Given the description of an element on the screen output the (x, y) to click on. 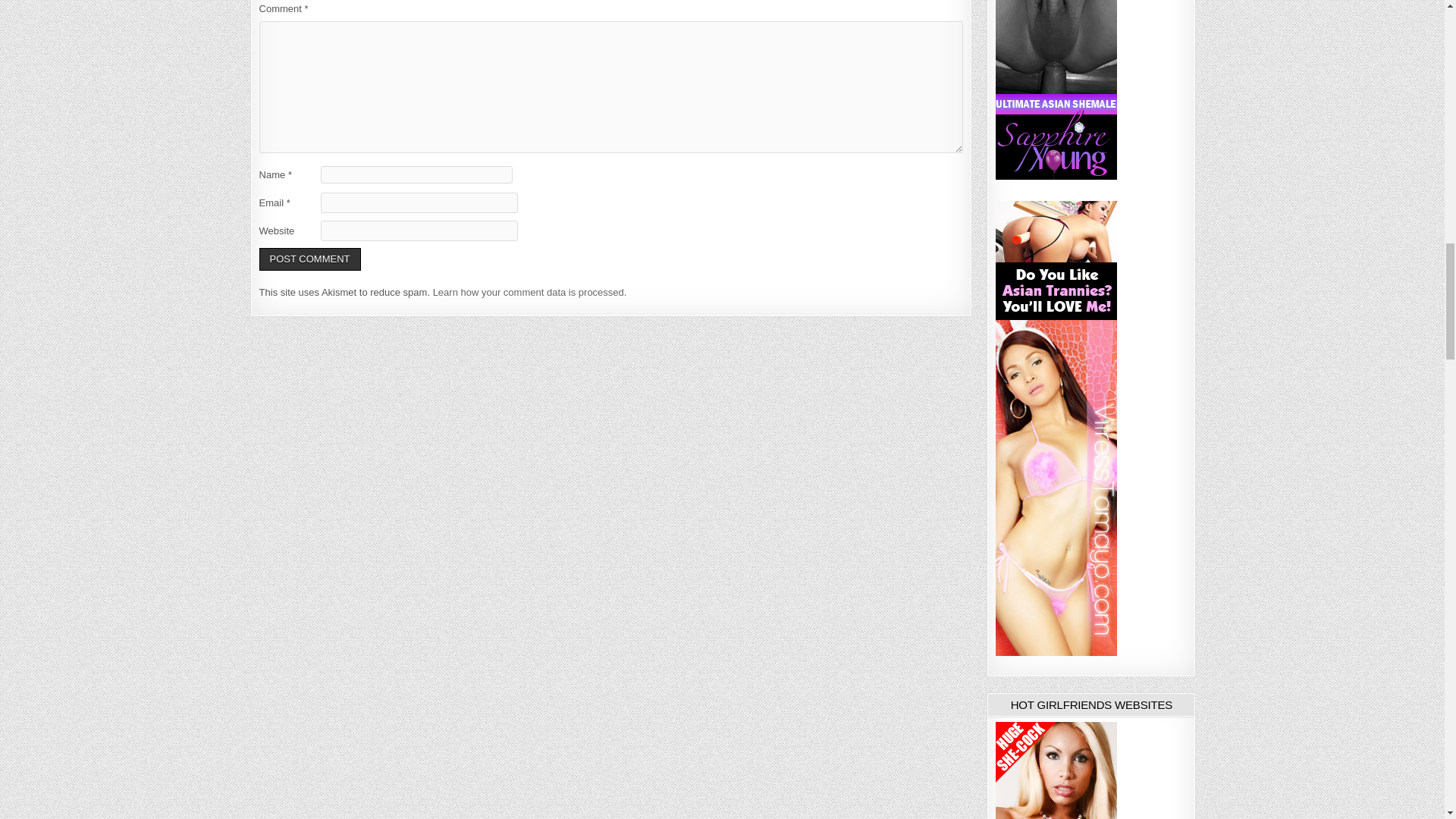
Learn how your comment data is processed (528, 292)
Post Comment (310, 259)
Post Comment (310, 259)
